Given the description of an element on the screen output the (x, y) to click on. 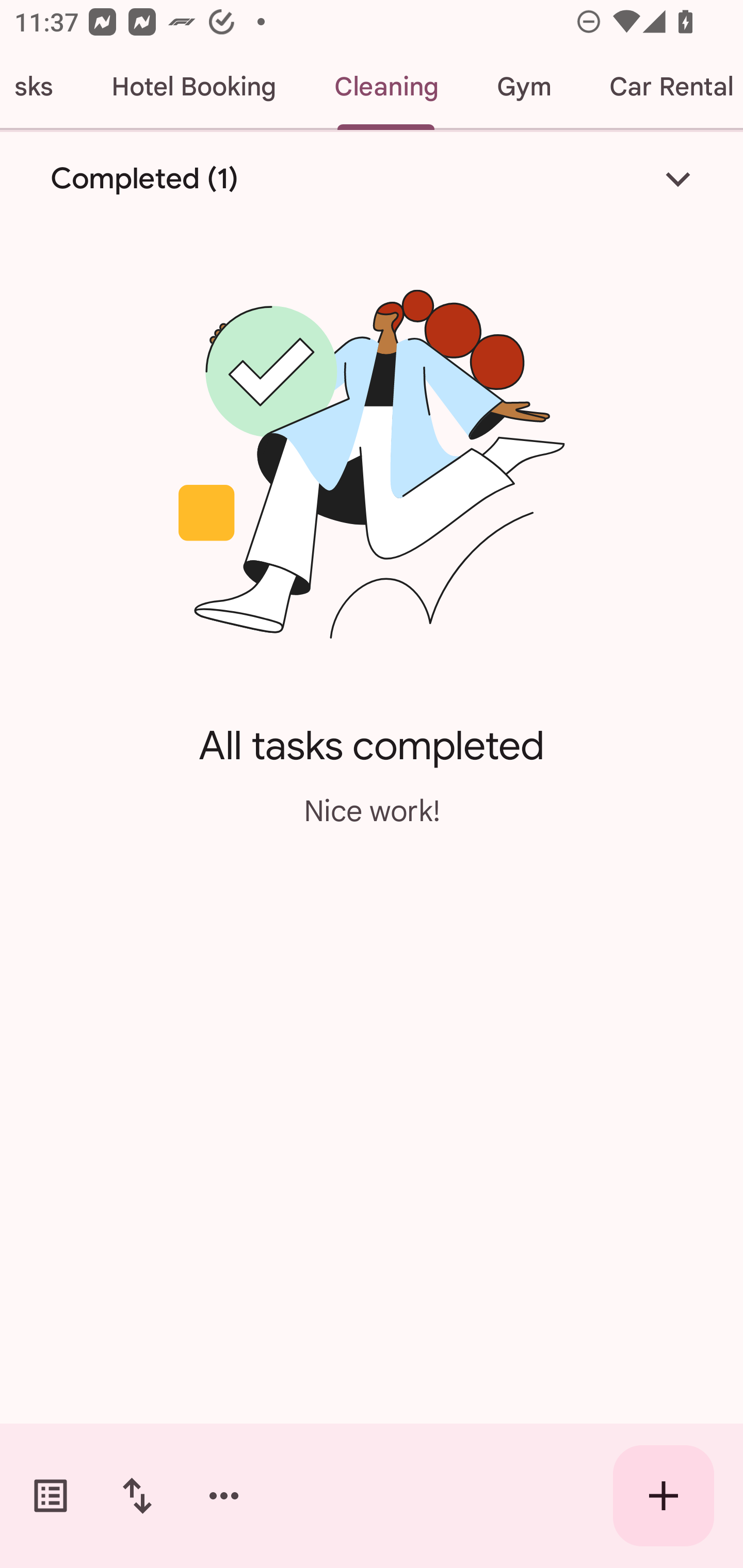
My Tasks (40, 86)
Hotel Booking (192, 86)
Gym (523, 86)
Car Rental (661, 86)
Completed (1) (371, 178)
Switch task lists (50, 1495)
Create new task (663, 1495)
Change sort order (136, 1495)
More options (223, 1495)
